Given the description of an element on the screen output the (x, y) to click on. 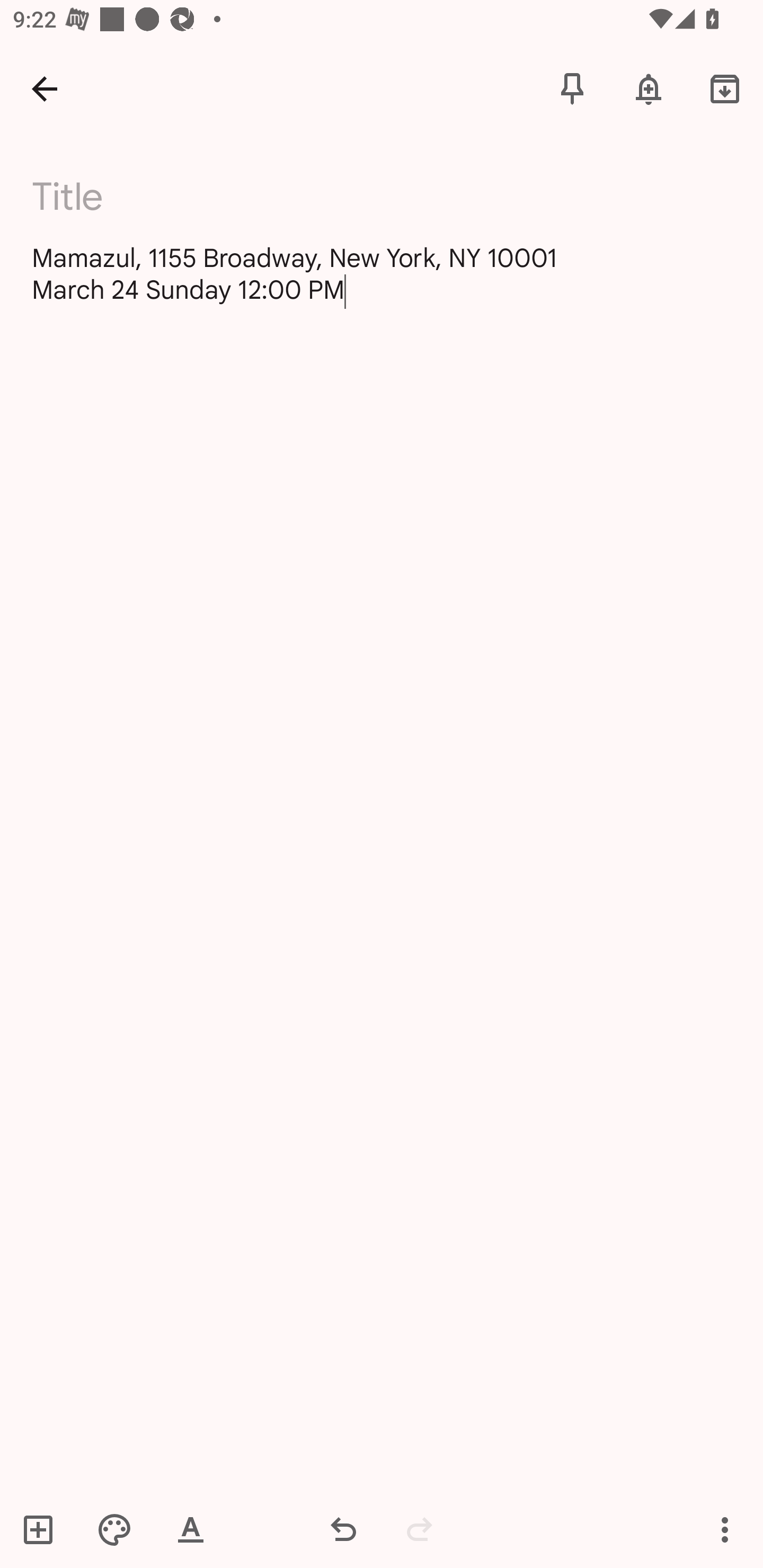
Navigate up (44, 88)
Pin (572, 88)
Reminder (648, 88)
Archive (724, 88)
Title (392, 196)
New list (44, 1529)
Theme (114, 1529)
Show formatting controls (190, 1529)
Undo (343, 1529)
Redo (419, 1529)
Action (724, 1529)
